Given the description of an element on the screen output the (x, y) to click on. 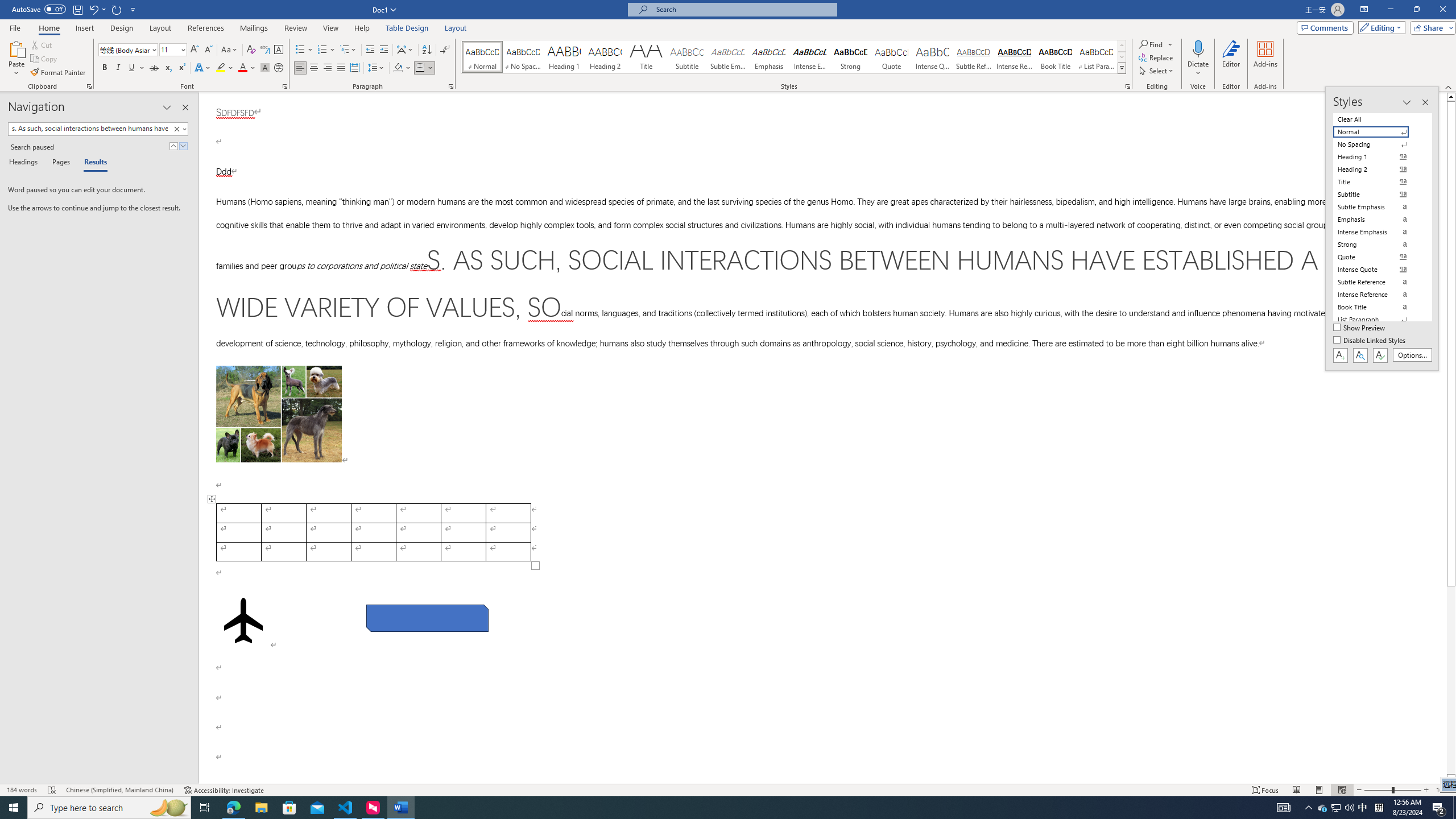
Disable Linked Styles (1370, 340)
Font Color RGB(255, 0, 0) (241, 67)
List Paragraph (1377, 319)
